Given the description of an element on the screen output the (x, y) to click on. 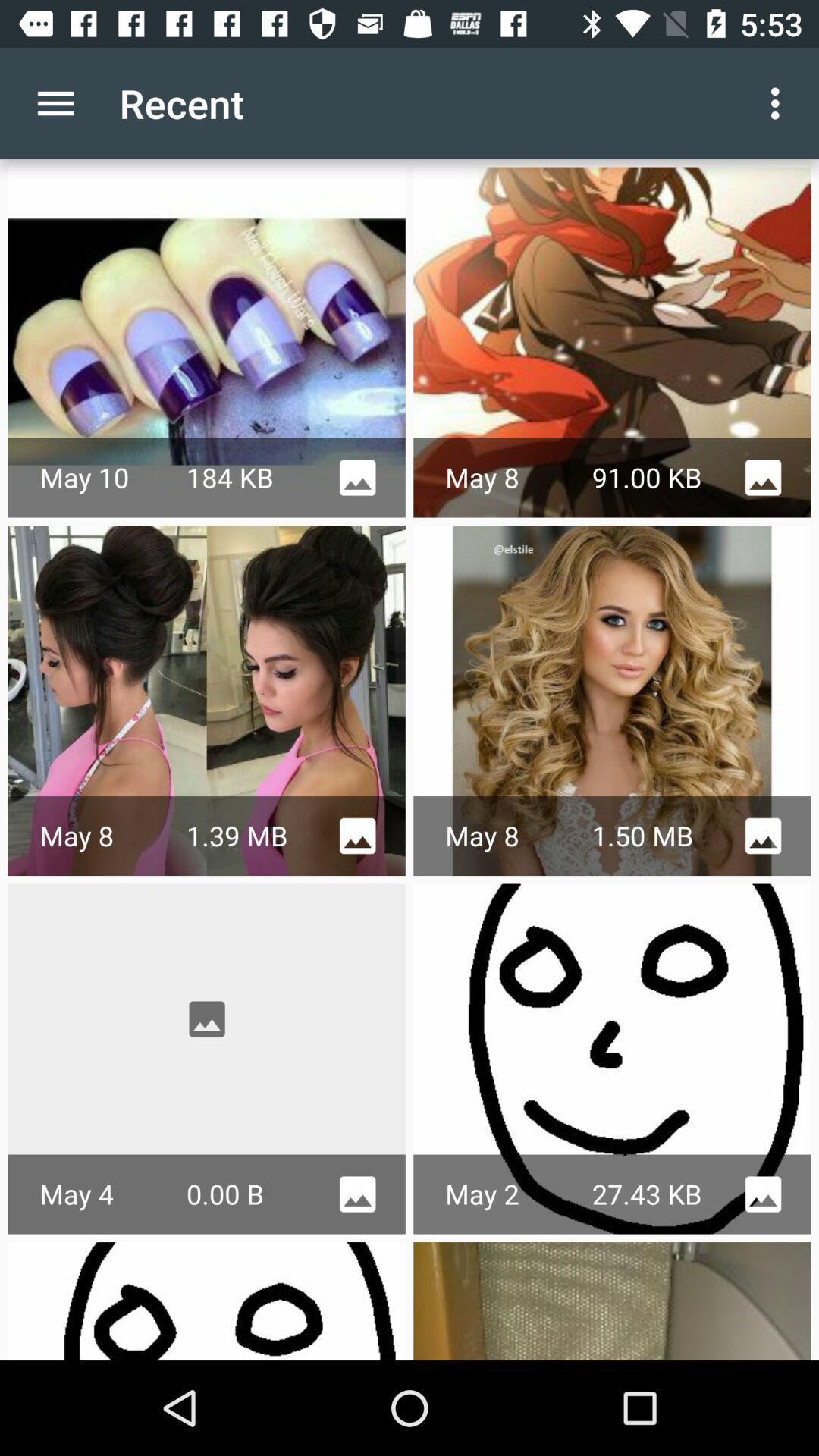
tap item next to recent (55, 103)
